Given the description of an element on the screen output the (x, y) to click on. 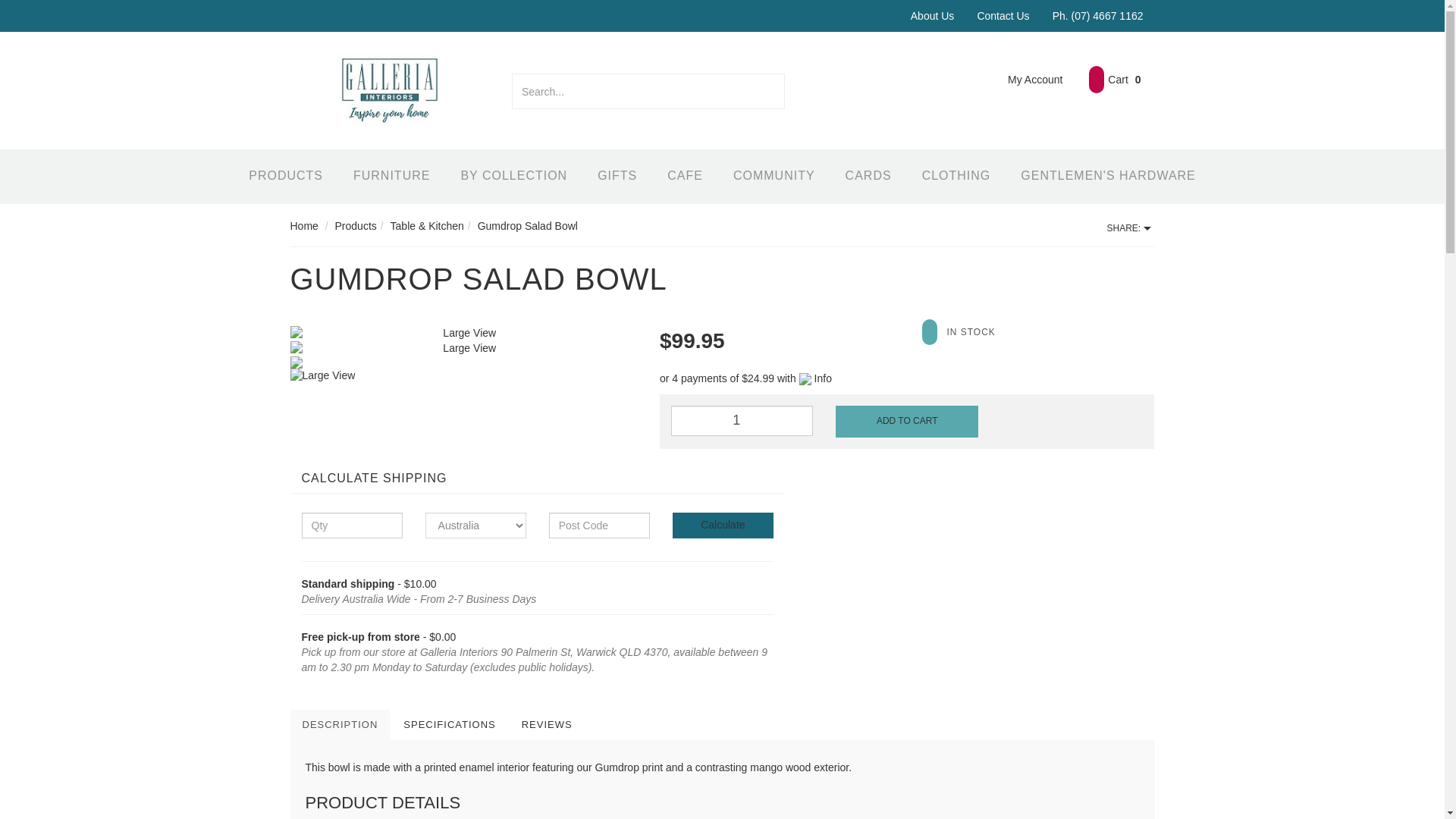
Calculate (722, 525)
Galleria Interiors (389, 89)
1 (741, 420)
Large View (445, 376)
Large View (463, 348)
Add to Cart (905, 421)
Large View (463, 333)
